Given the description of an element on the screen output the (x, y) to click on. 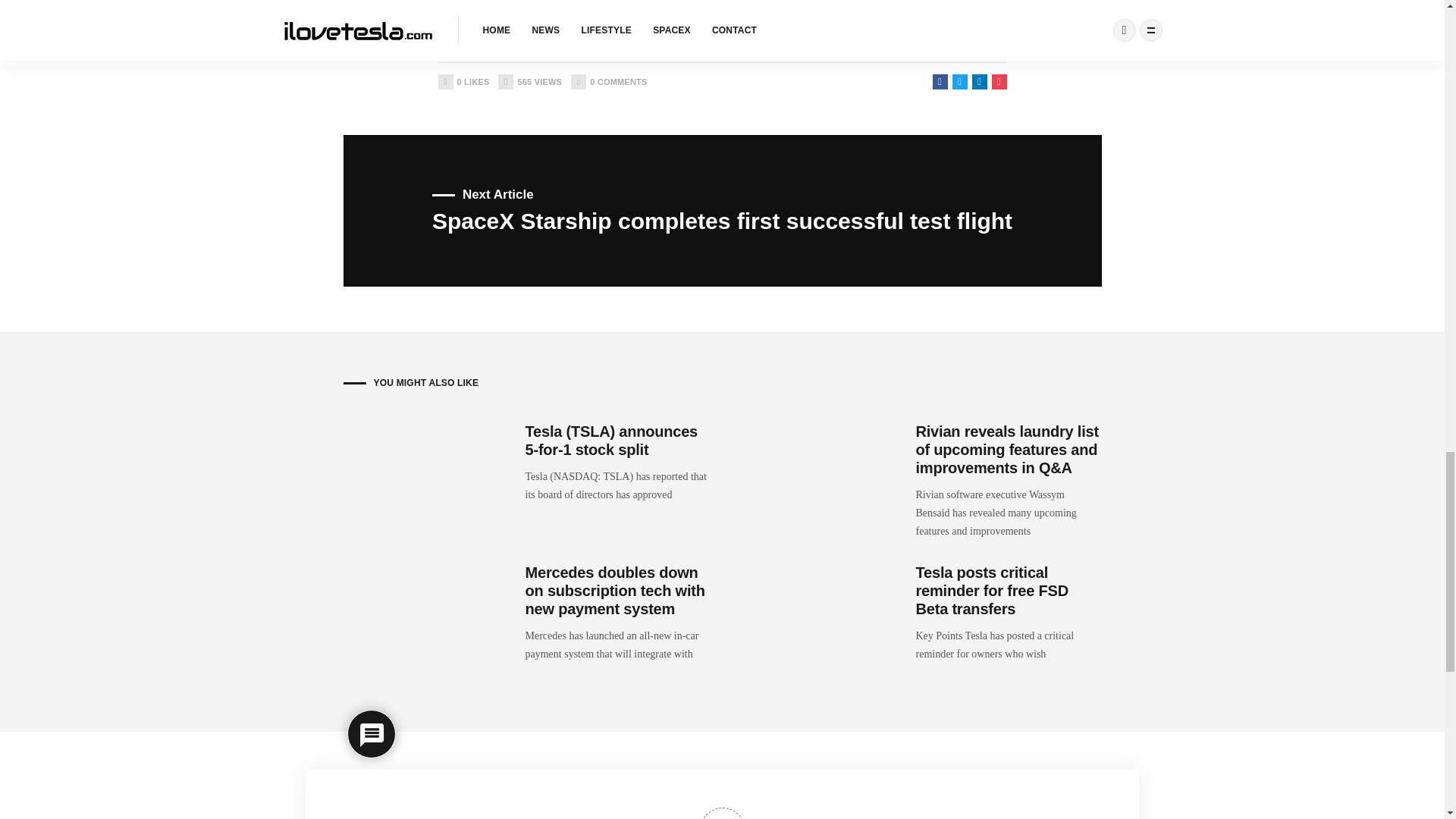
Tesla posts critical reminder for free FSD Beta transfers (463, 81)
